Given the description of an element on the screen output the (x, y) to click on. 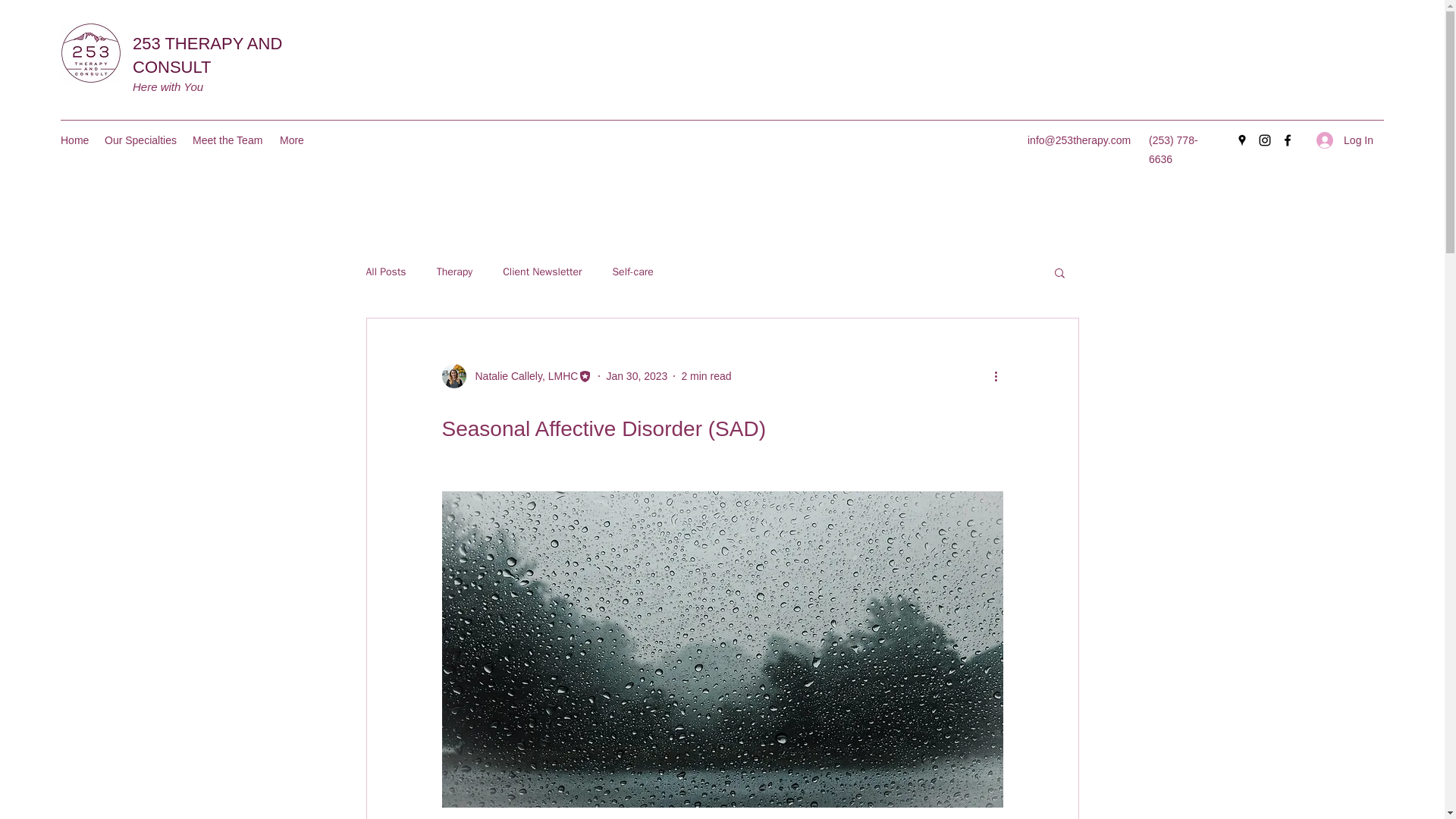
253 THERAPY AND CONSULT (207, 55)
Therapy (454, 272)
2 min read (705, 376)
Our Specialties (140, 139)
Log In (1345, 139)
Natalie Callely, LMHC (521, 376)
Meet the Team (228, 139)
Client Newsletter (541, 272)
Jan 30, 2023 (635, 376)
Self-care (631, 272)
